Given the description of an element on the screen output the (x, y) to click on. 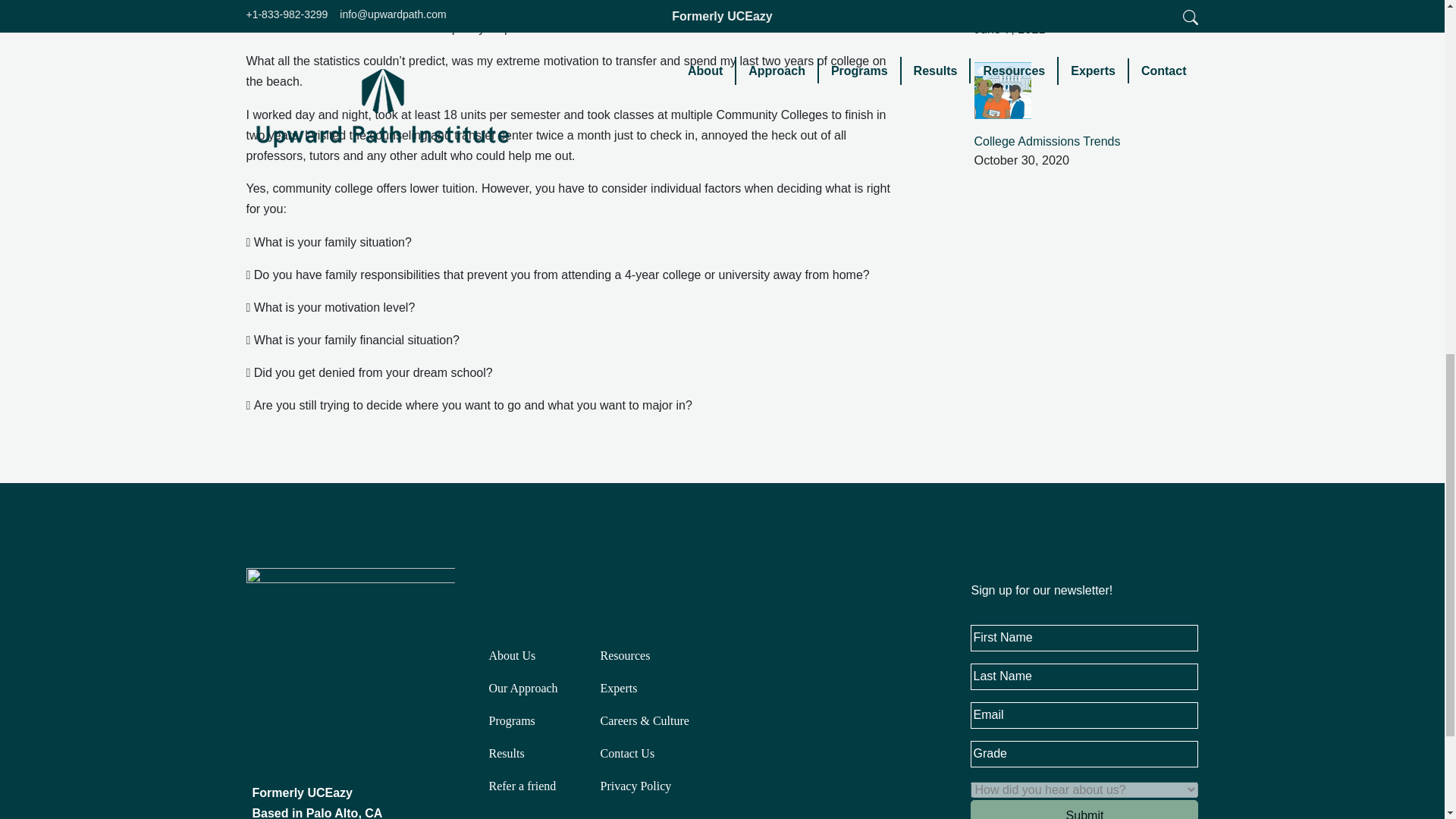
Upward Path (350, 670)
Refer a friend (521, 785)
About Us (511, 655)
Programs (510, 720)
Our Approach (522, 687)
Experts (618, 687)
Results (505, 753)
Resources (624, 655)
